Given the description of an element on the screen output the (x, y) to click on. 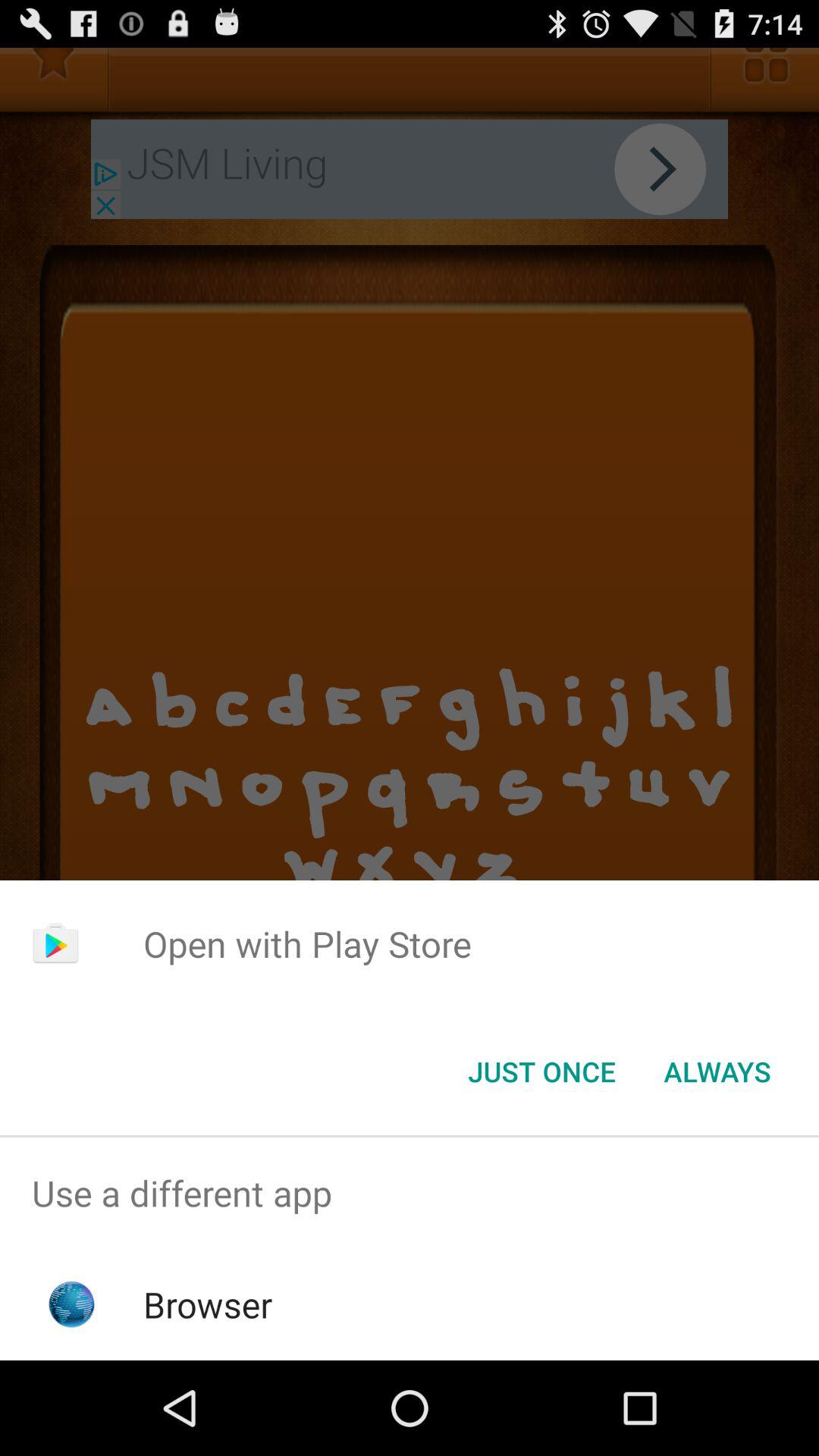
choose the just once (541, 1071)
